Given the description of an element on the screen output the (x, y) to click on. 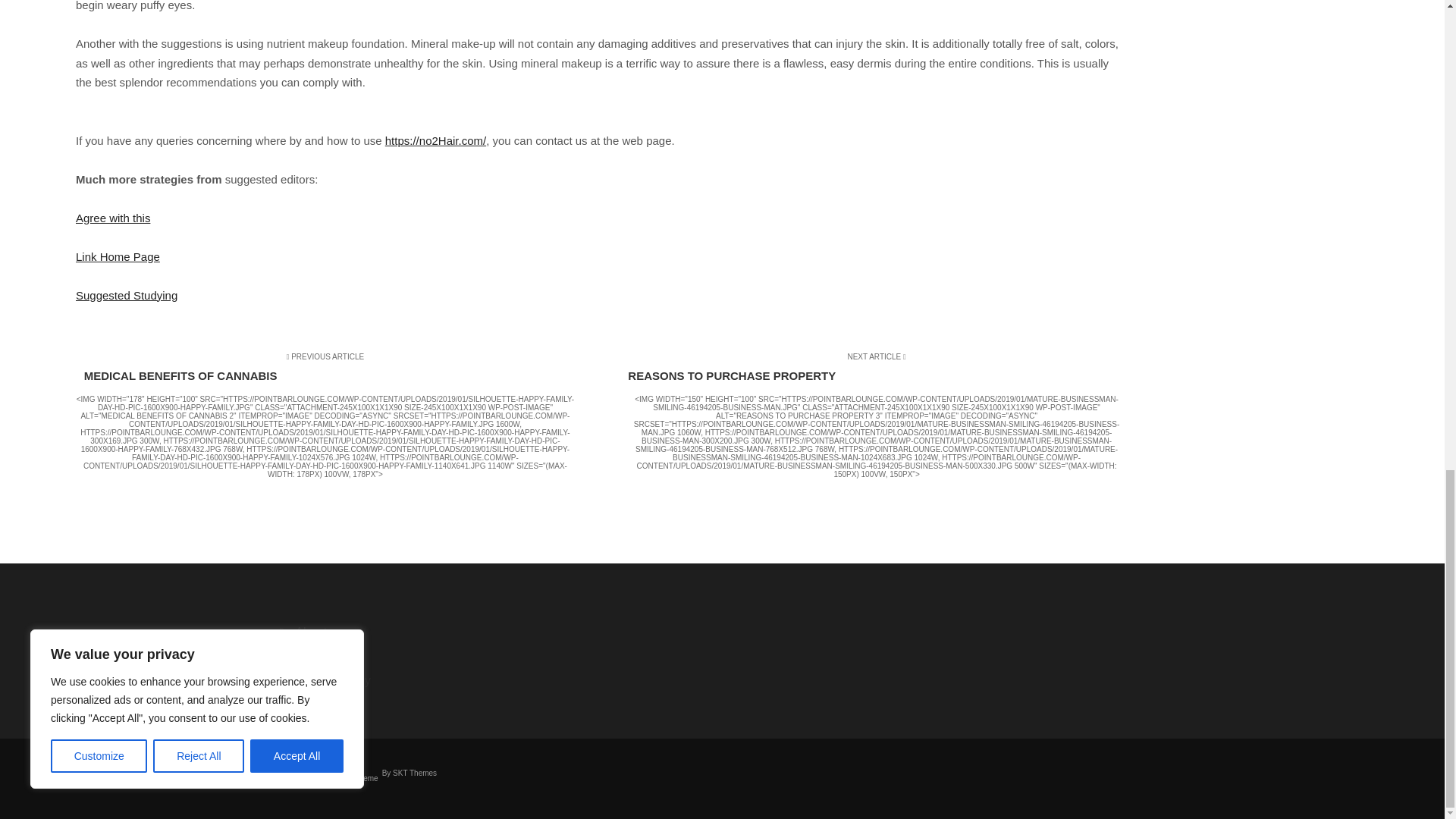
Suggested Studying (126, 295)
Link Home Page (117, 256)
Agree with this (112, 217)
